Given the description of an element on the screen output the (x, y) to click on. 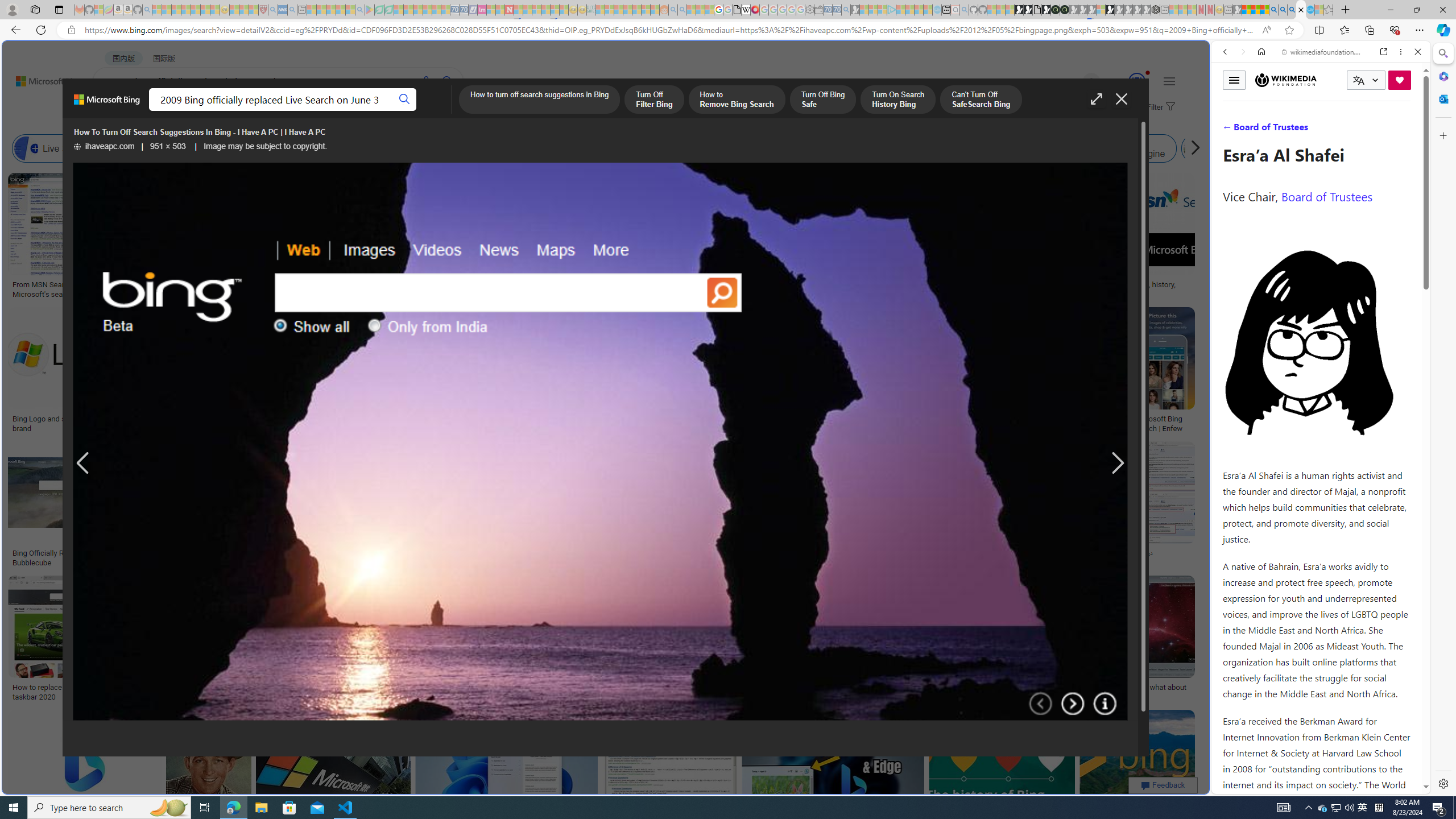
Future Focus Report 2024 (1064, 9)
WEB (114, 111)
Bing: rebranding search: idsgn (a design blog)Save (701, 237)
